Given the description of an element on the screen output the (x, y) to click on. 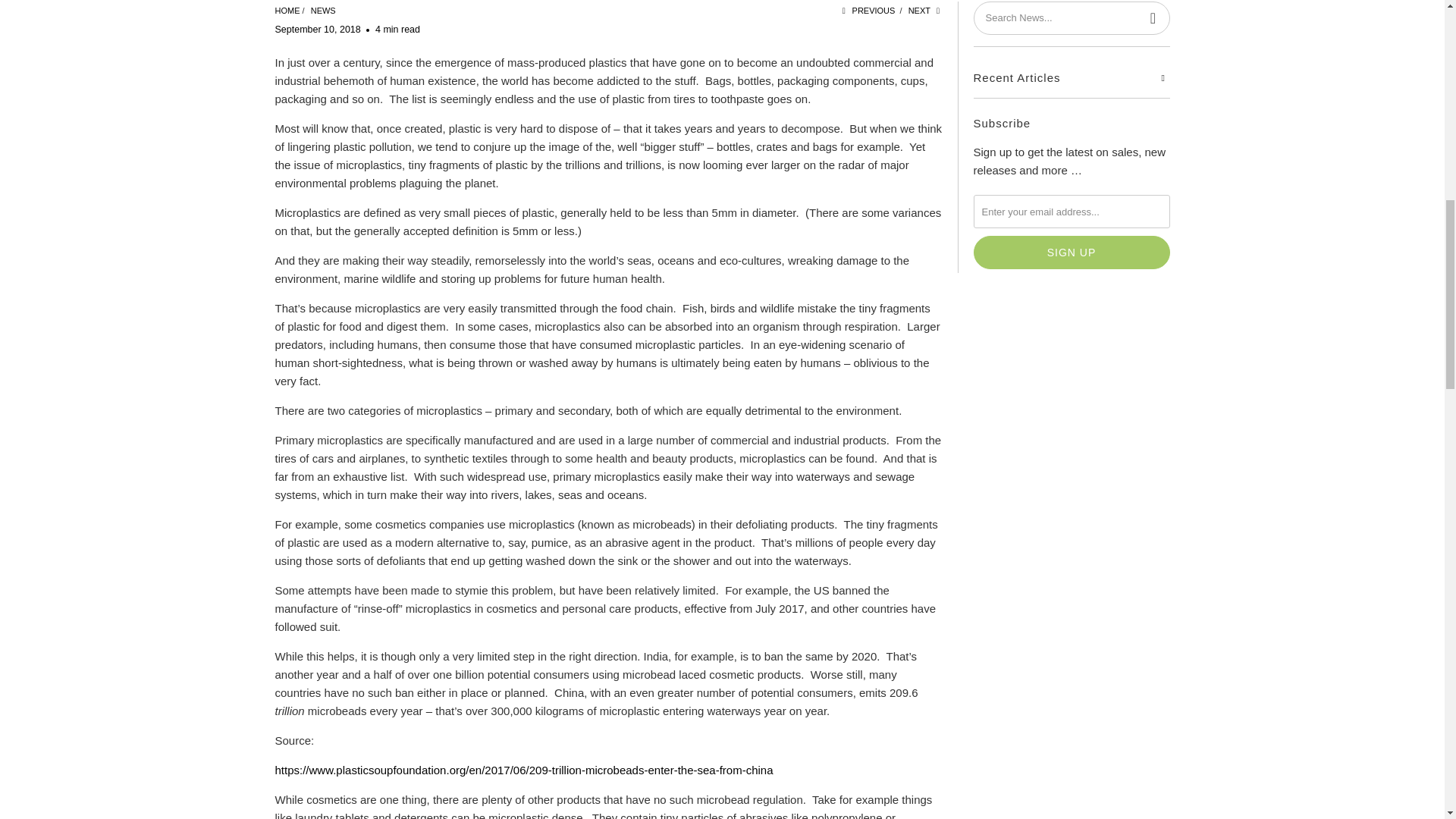
News (323, 10)
Sign Up (1072, 252)
Green Apple Active  (287, 10)
